Given the description of an element on the screen output the (x, y) to click on. 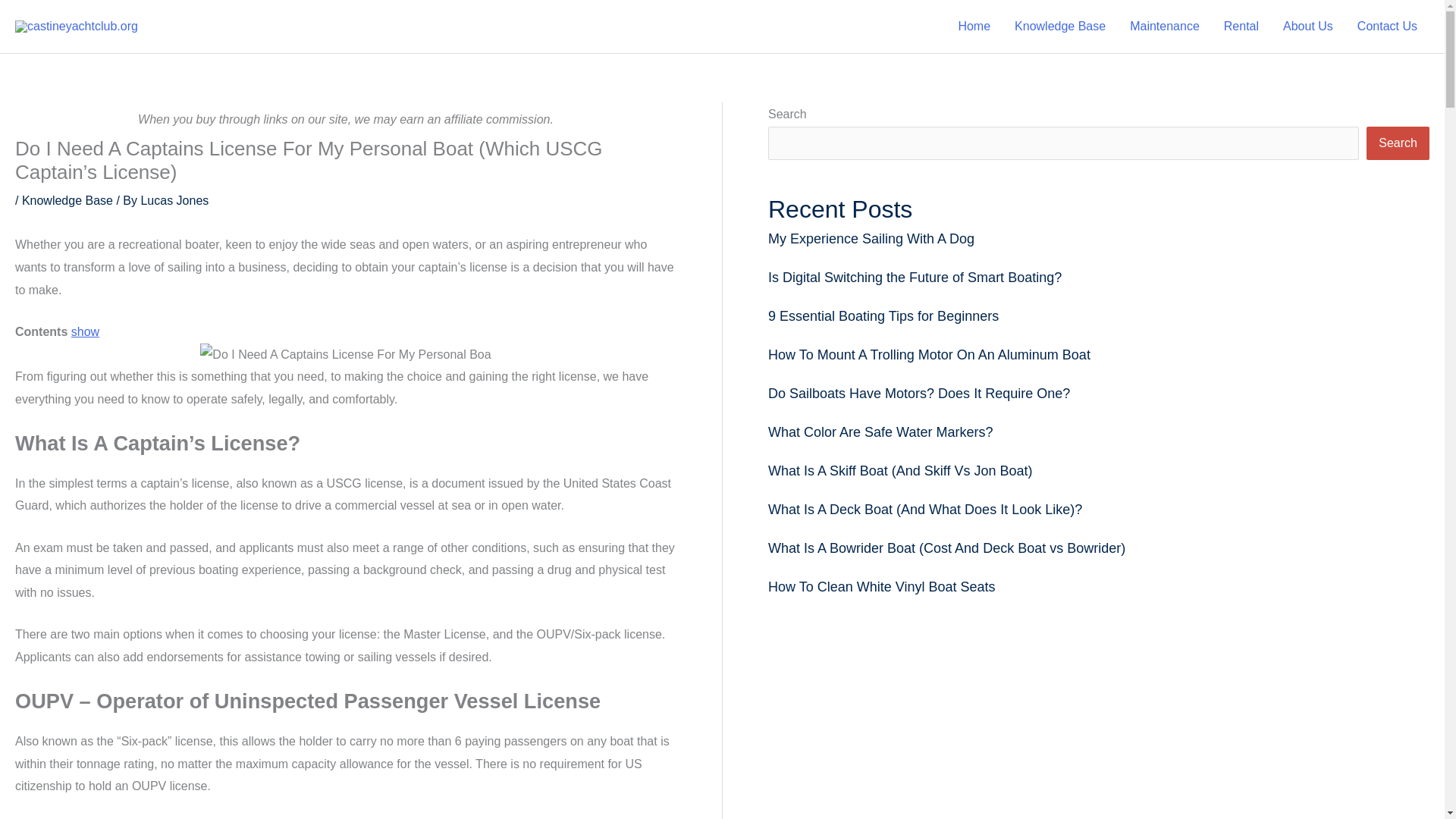
Knowledge Base (67, 200)
Contact Us (1387, 26)
show (85, 331)
About Us (1308, 26)
Knowledge Base (1060, 26)
Rental (1241, 26)
Lucas Jones (173, 200)
Home (973, 26)
Maintenance (1164, 26)
View all posts by Lucas Jones (173, 200)
